Given the description of an element on the screen output the (x, y) to click on. 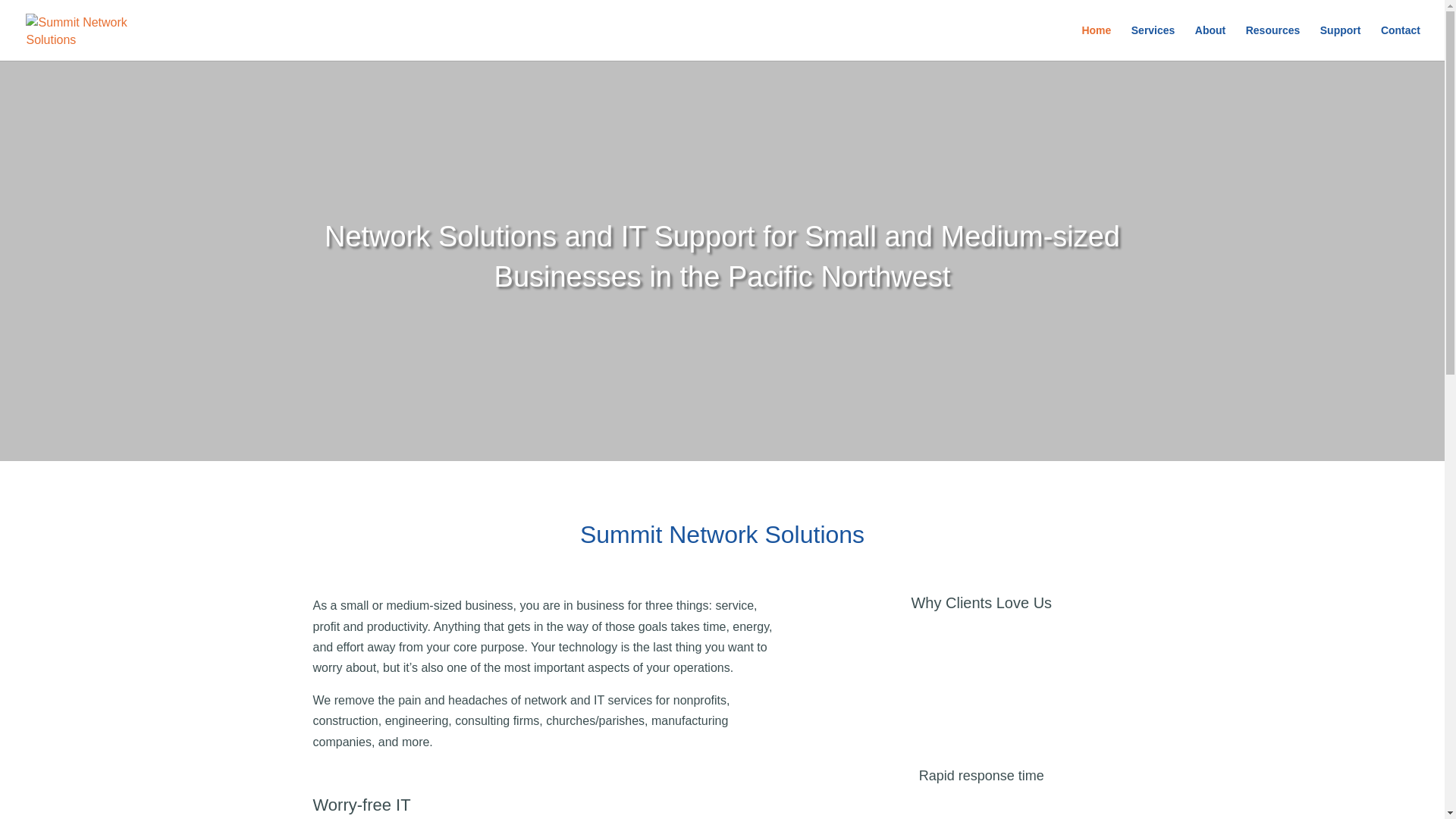
Contact (1400, 42)
About (1210, 42)
Services (1152, 42)
Resources (1273, 42)
Home (1095, 42)
Support (1340, 42)
